Given the description of an element on the screen output the (x, y) to click on. 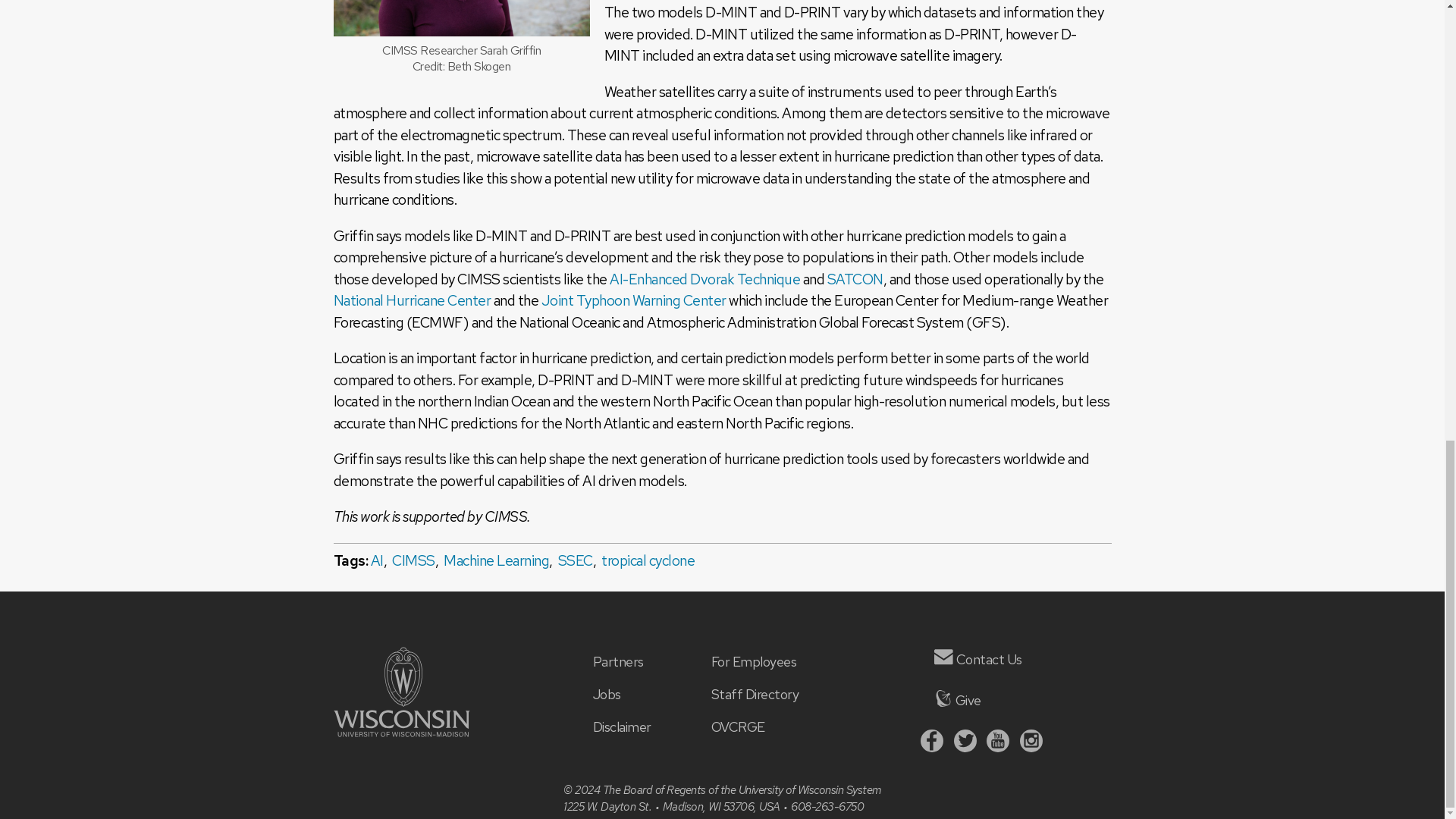
Facebook (931, 740)
SSEC (574, 560)
Joint Typhoon Warning Center (633, 300)
Give (943, 698)
Contact Us (944, 657)
Youtube (998, 740)
Twitter (964, 740)
CIMSS (413, 560)
SATCON (854, 279)
AI-Enhanced Dvorak Technique (704, 279)
